Given the description of an element on the screen output the (x, y) to click on. 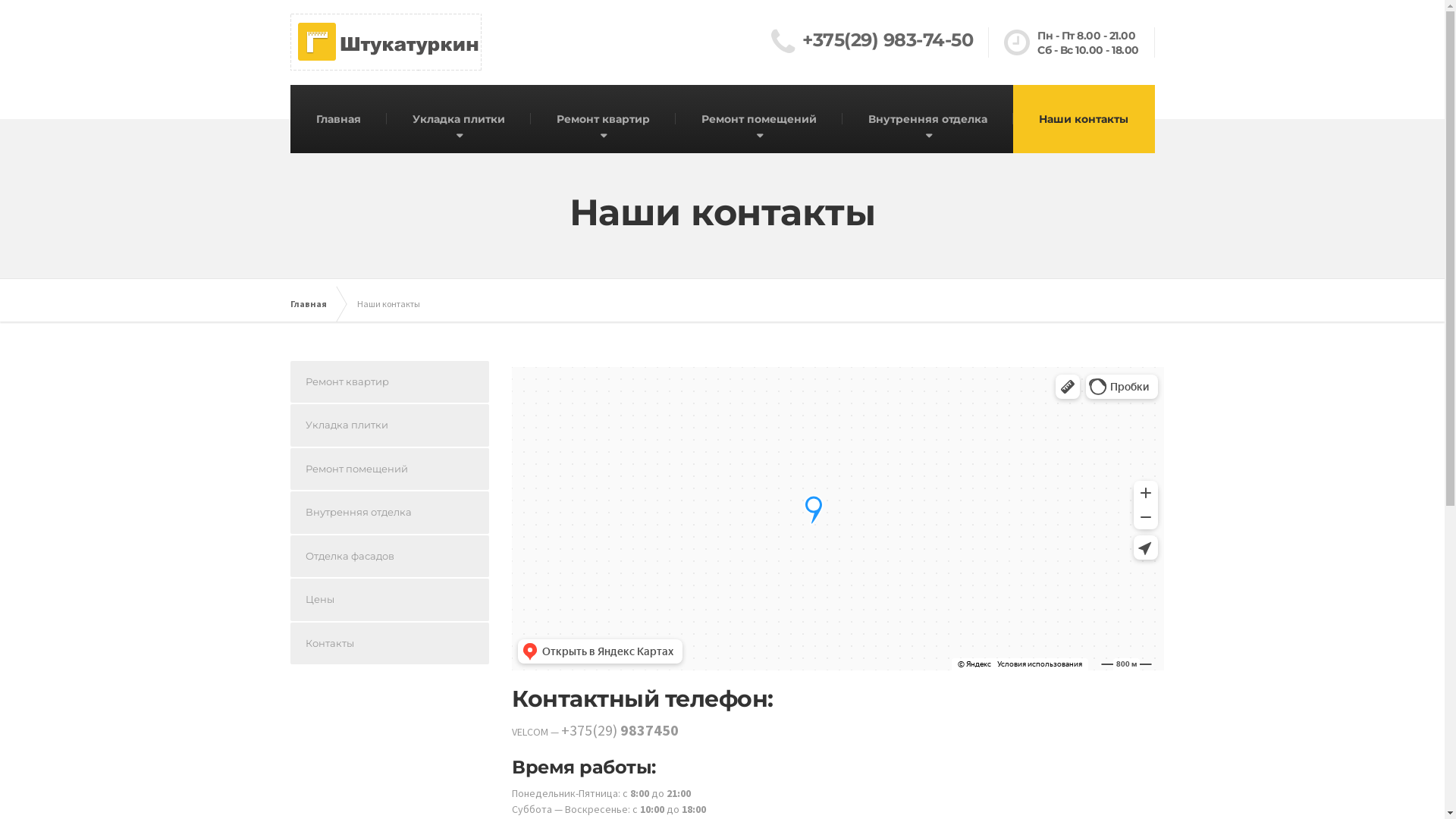
+375(29) 983-74-50 Element type: text (879, 42)
